Given the description of an element on the screen output the (x, y) to click on. 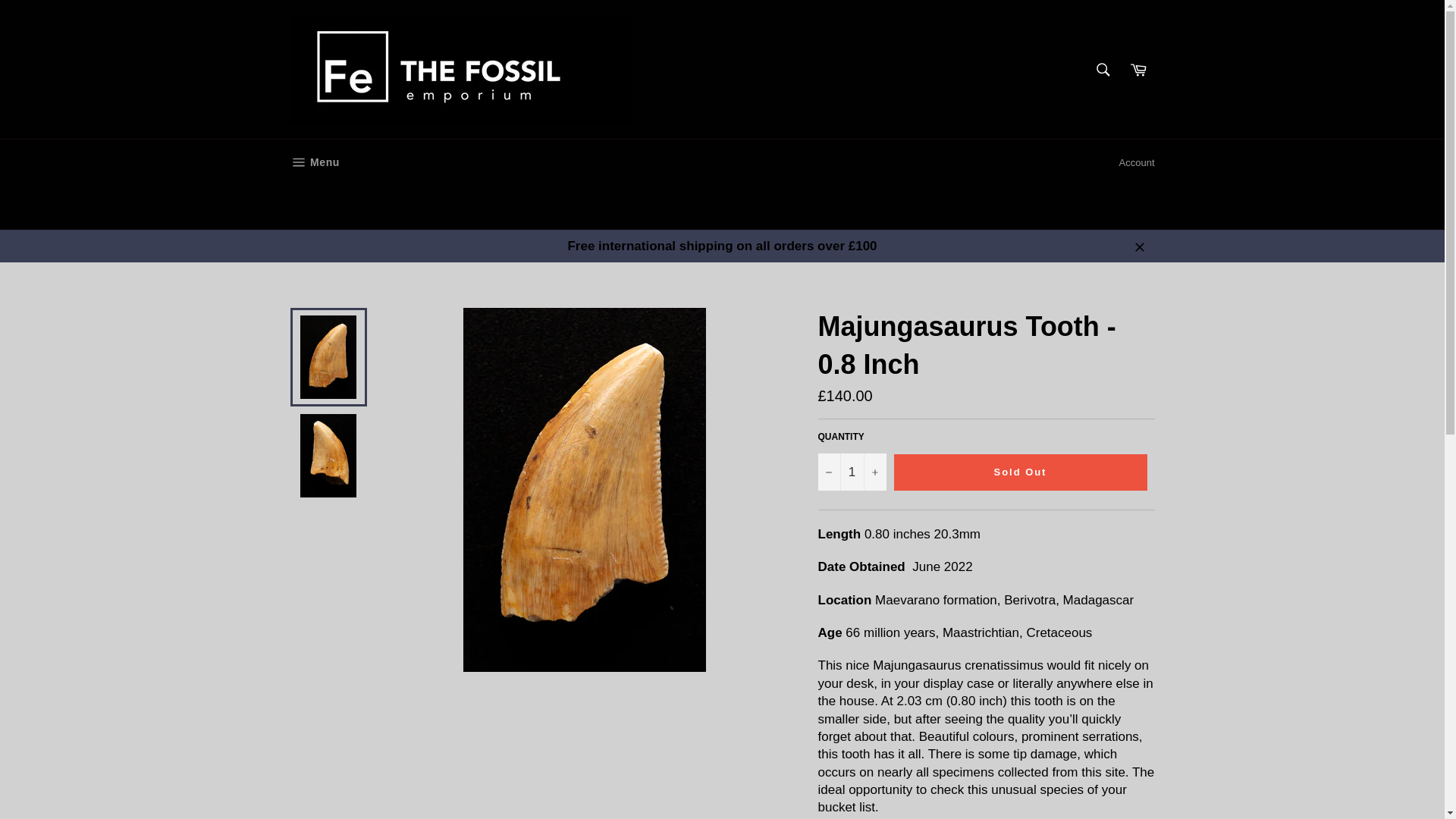
1 (850, 471)
